Given the description of an element on the screen output the (x, y) to click on. 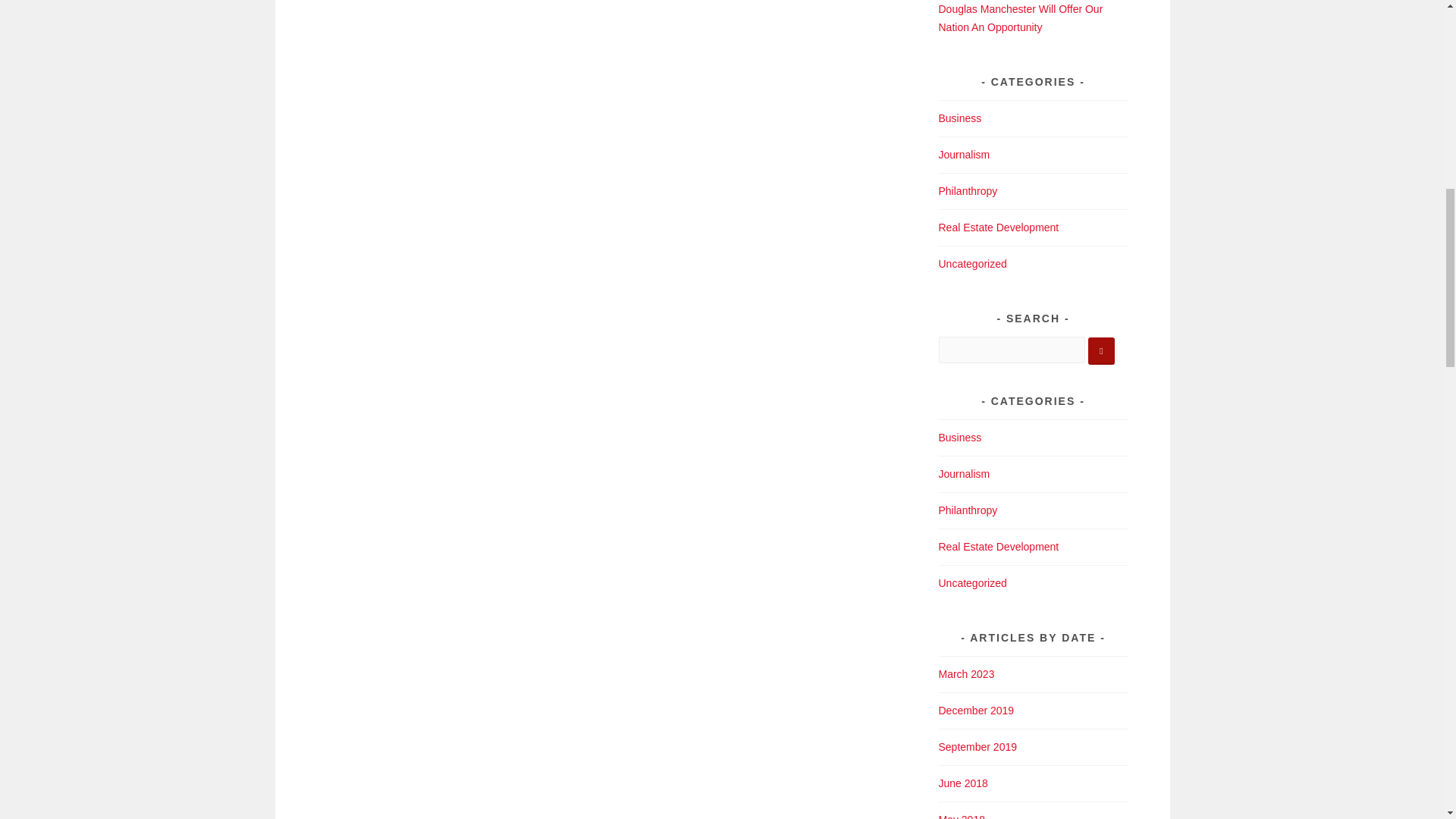
Journalism (964, 154)
Philanthropy (968, 510)
Journalism (964, 473)
Business (960, 118)
Real Estate Development (999, 227)
Business (960, 437)
Uncategorized (973, 263)
Real Estate Development (999, 546)
Philanthropy (968, 191)
December 2019 (976, 710)
Douglas Manchester Will Offer Our Nation An Opportunity (1021, 18)
March 2023 (966, 674)
Uncategorized (973, 582)
